Given the description of an element on the screen output the (x, y) to click on. 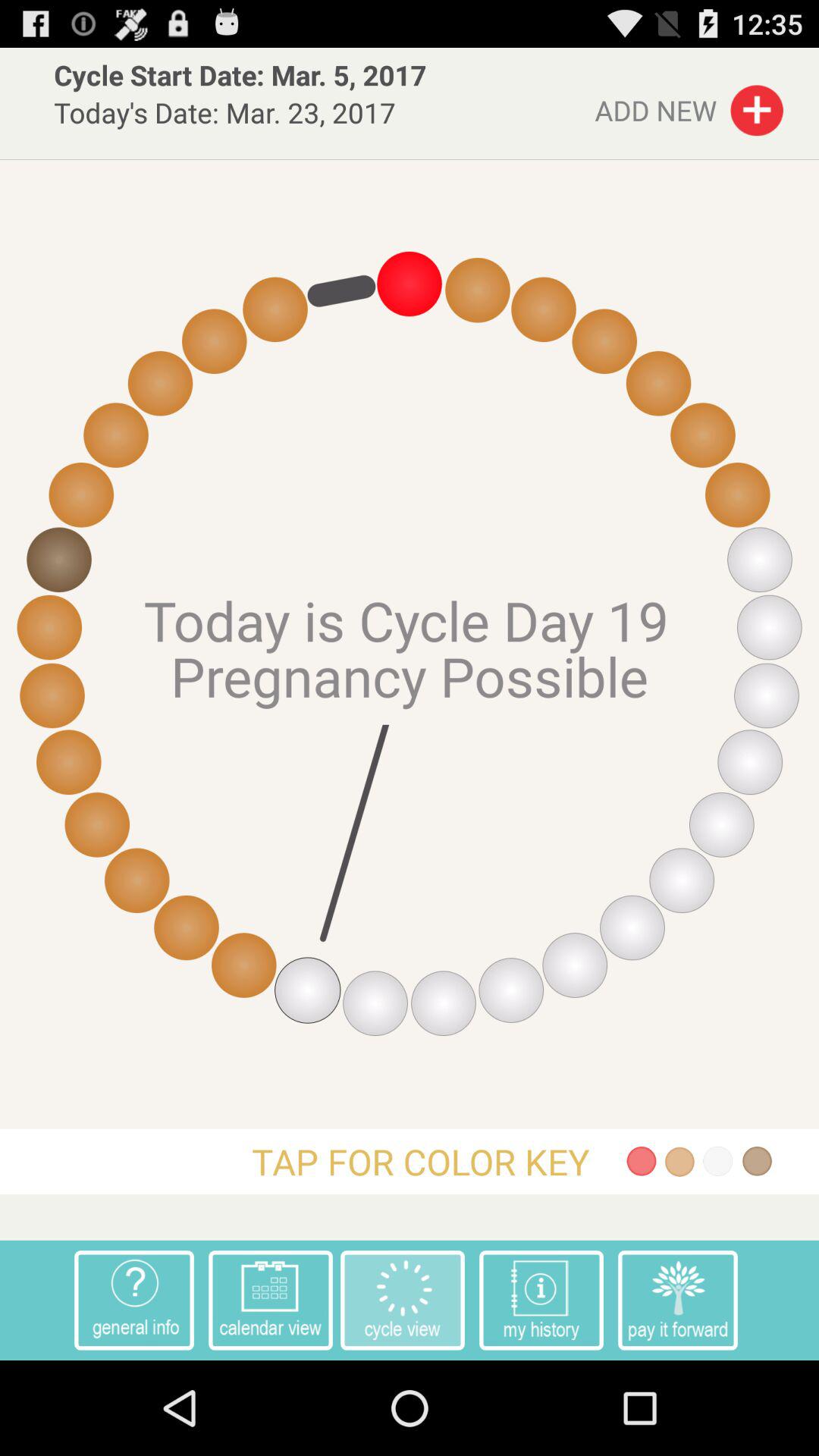
turn on the item next to the   item (677, 1300)
